Given the description of an element on the screen output the (x, y) to click on. 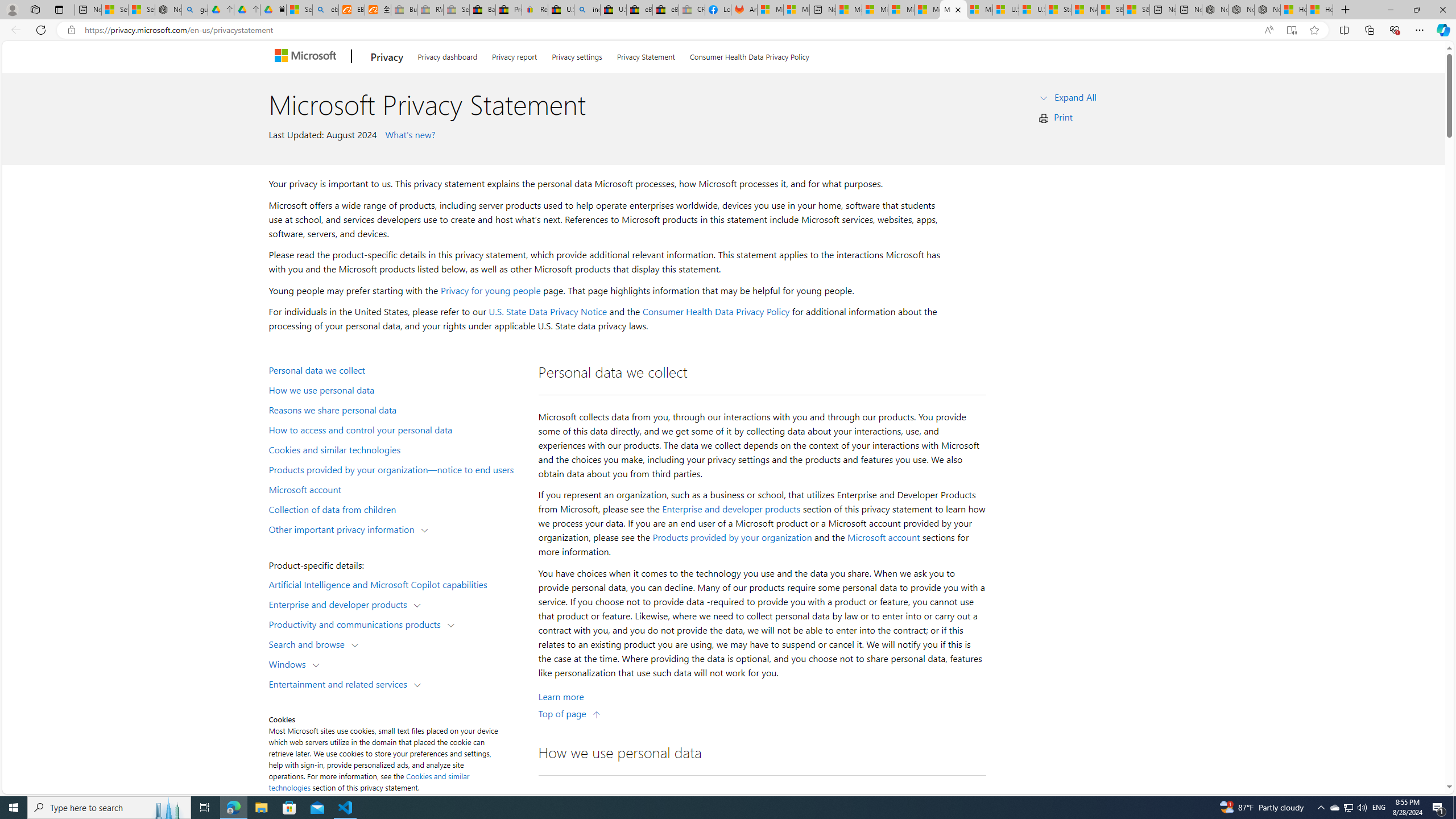
Artificial Intelligence and Microsoft Copilot capabilities (395, 583)
Privacy (386, 56)
Top of page (569, 713)
New tab (1188, 9)
Enterprise and developer products (340, 603)
Enter Immersive Reader (F9) (1291, 29)
Consumer Health Data Privacy Policy (748, 54)
Split screen (1344, 29)
Personal Profile (12, 9)
U.S. State Data Privacy Notice (548, 311)
Close tab (957, 9)
Other important privacy information (343, 528)
Close (1442, 9)
Log into Facebook (717, 9)
Add this page to favorites (Ctrl+D) (1314, 29)
